Given the description of an element on the screen output the (x, y) to click on. 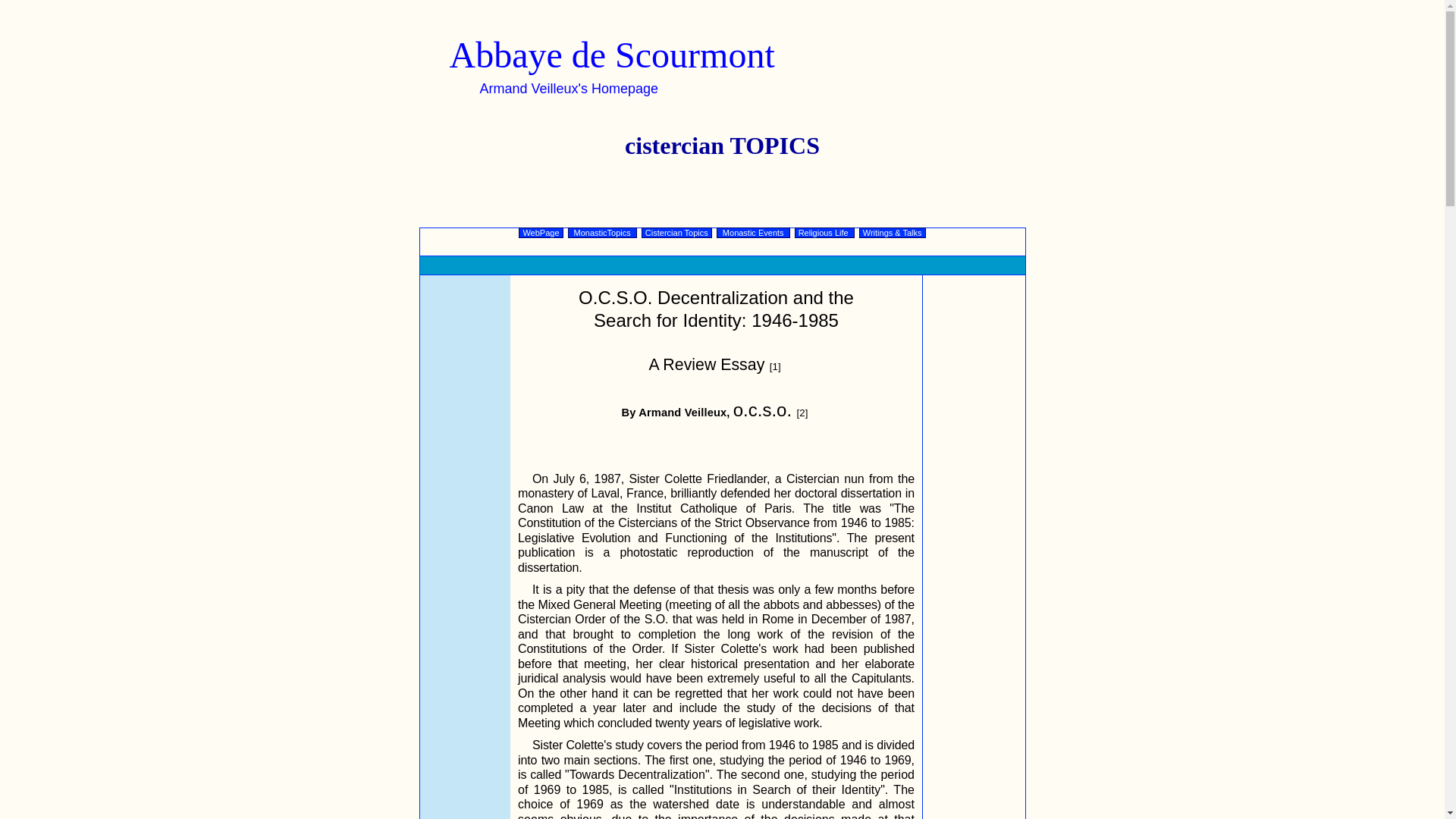
MonasticTopics (602, 232)
Religious Life (824, 232)
Monastic Events (753, 232)
WebPage (540, 232)
Cistercian Topics (676, 232)
